Given the description of an element on the screen output the (x, y) to click on. 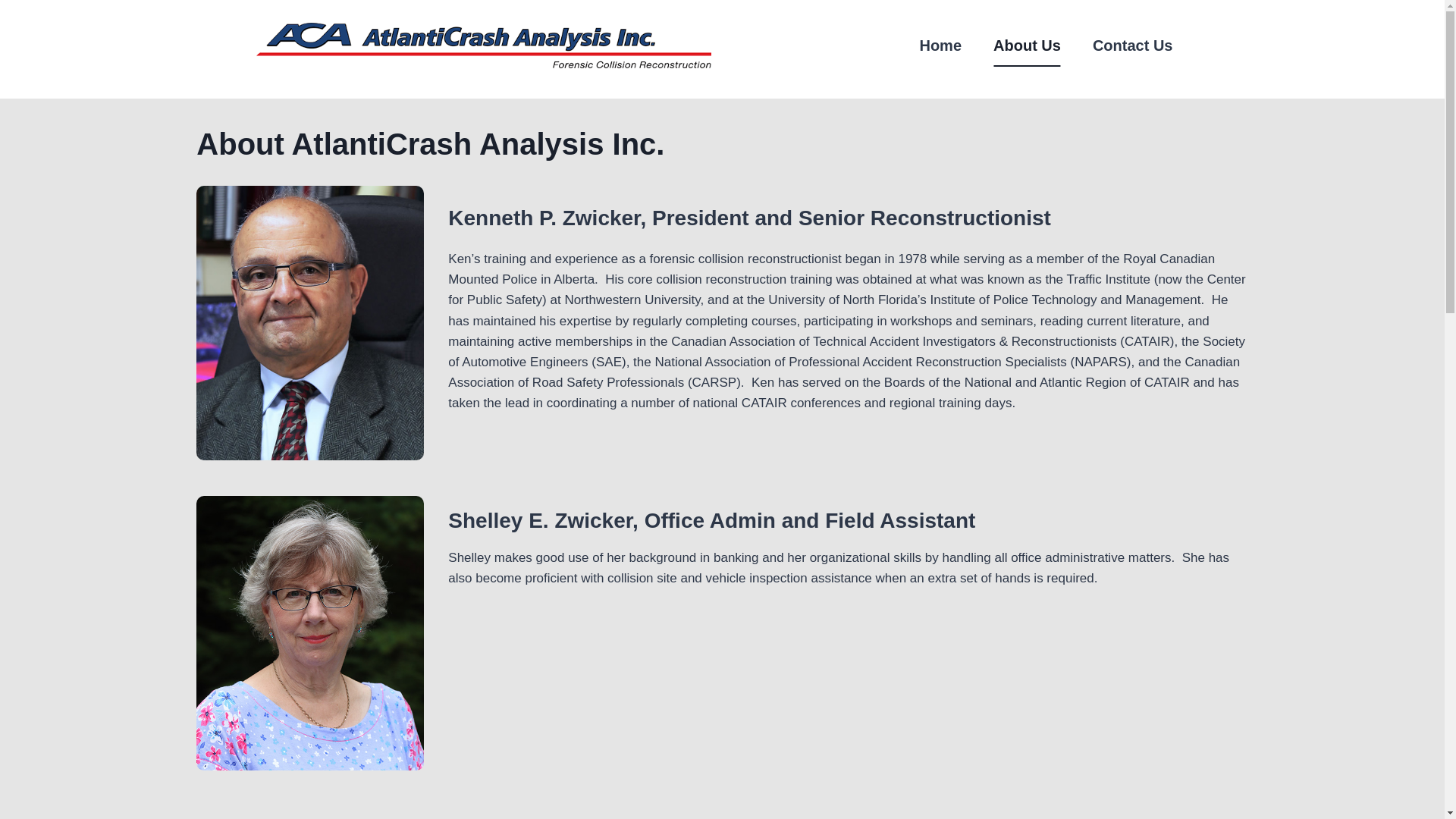
About Us (1026, 45)
Contact Us (1133, 45)
Home (939, 45)
